Given the description of an element on the screen output the (x, y) to click on. 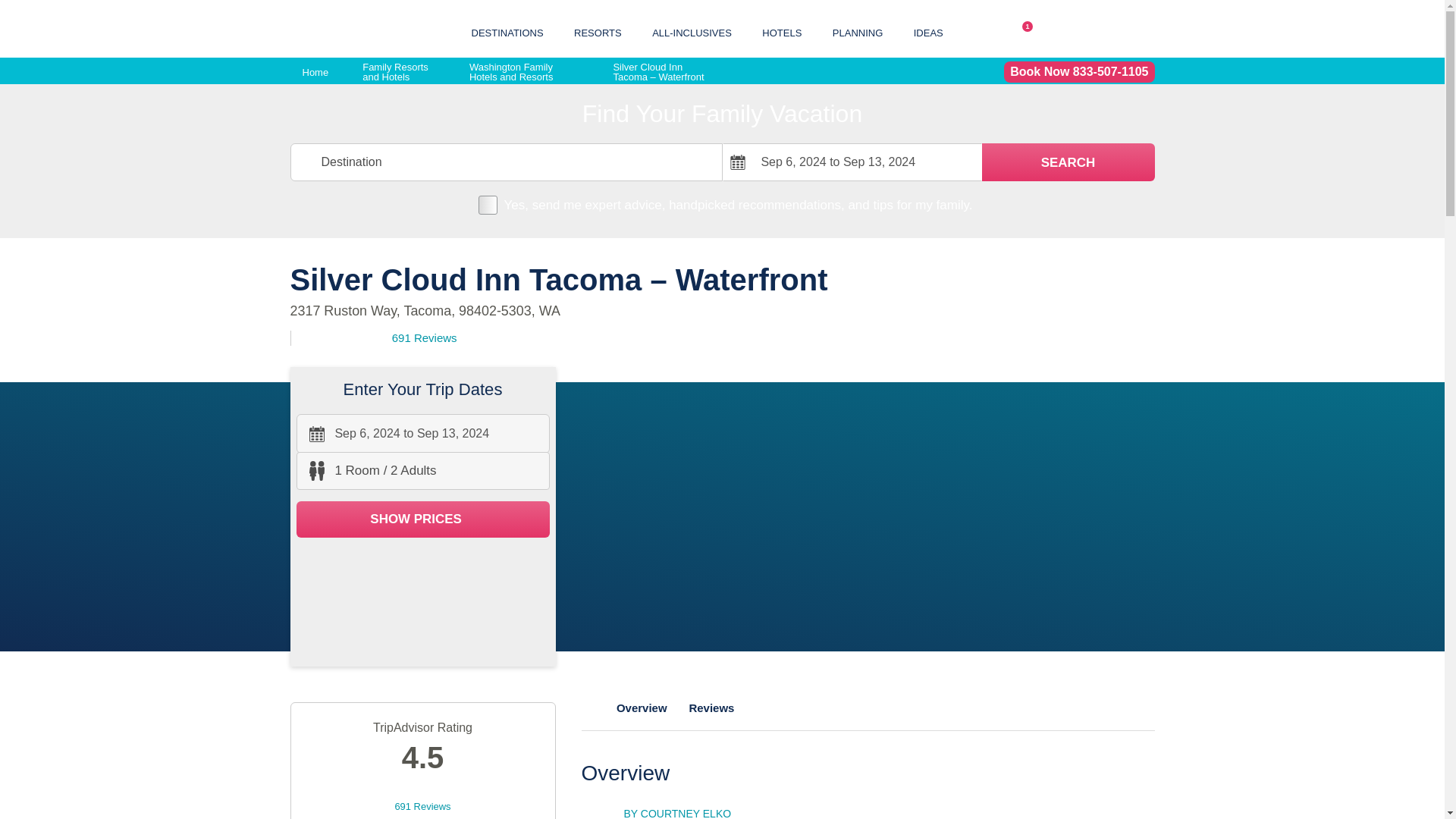
RESORTS (1022, 32)
ALL-INCLUSIVES (597, 32)
Search (692, 32)
Family Resorts and Hotels (1067, 161)
Sep 6, 2024 to Sep 13, 2024 (399, 71)
SHOW PRICES (421, 433)
Search (421, 519)
Washington Family Hotels and Resorts (1067, 161)
Search (523, 71)
